Given the description of an element on the screen output the (x, y) to click on. 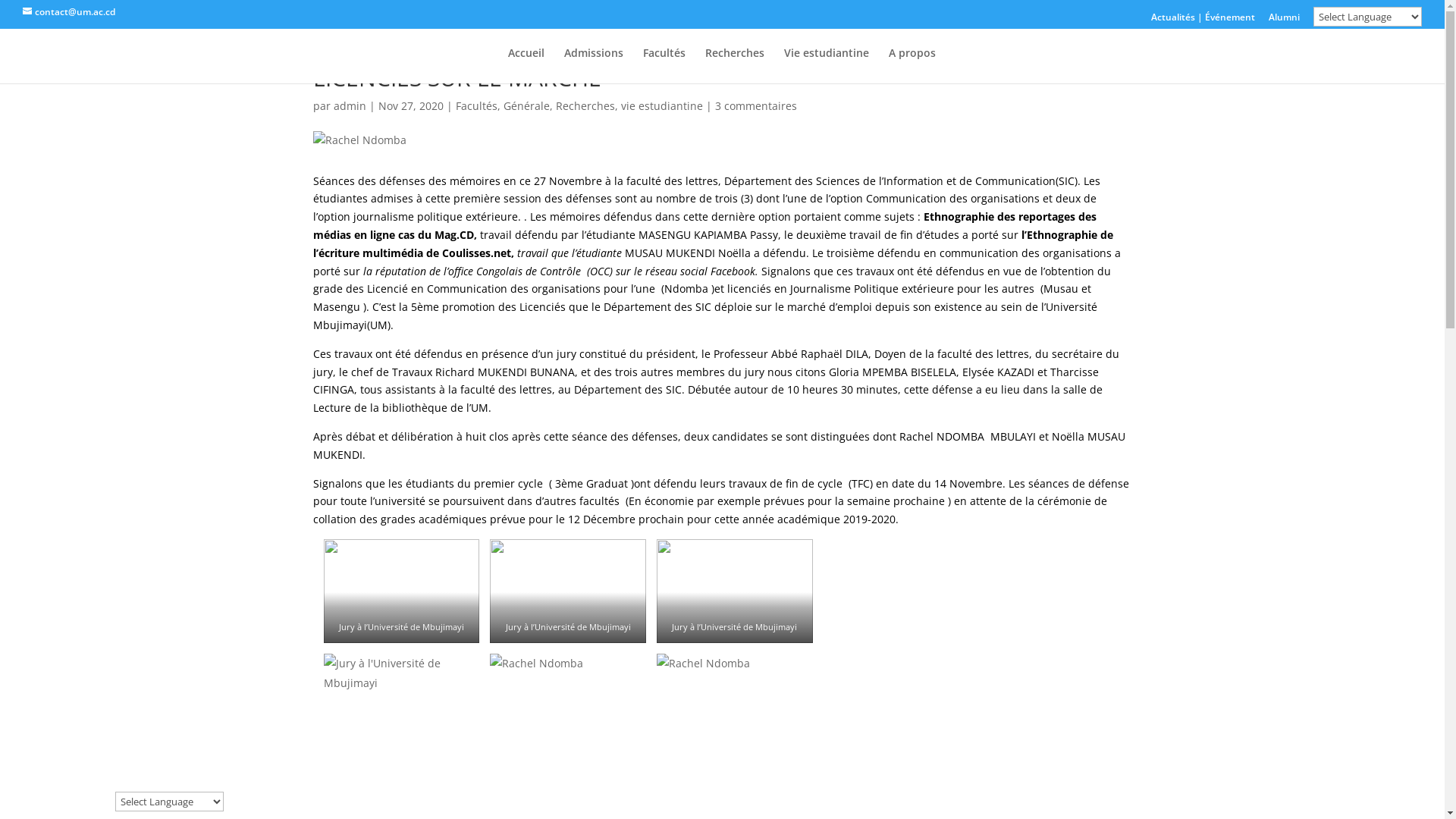
A propos Element type: text (911, 65)
Recherches Element type: text (734, 65)
Recherches Element type: text (584, 105)
Accueil Element type: text (526, 65)
contact@um.ac.cd Element type: text (68, 11)
Alumni Element type: text (1283, 20)
admin Element type: text (349, 105)
Admissions Element type: text (593, 65)
vie estudiantine Element type: text (661, 105)
3 commentaires Element type: text (755, 105)
Vie estudiantine Element type: text (826, 65)
